Given the description of an element on the screen output the (x, y) to click on. 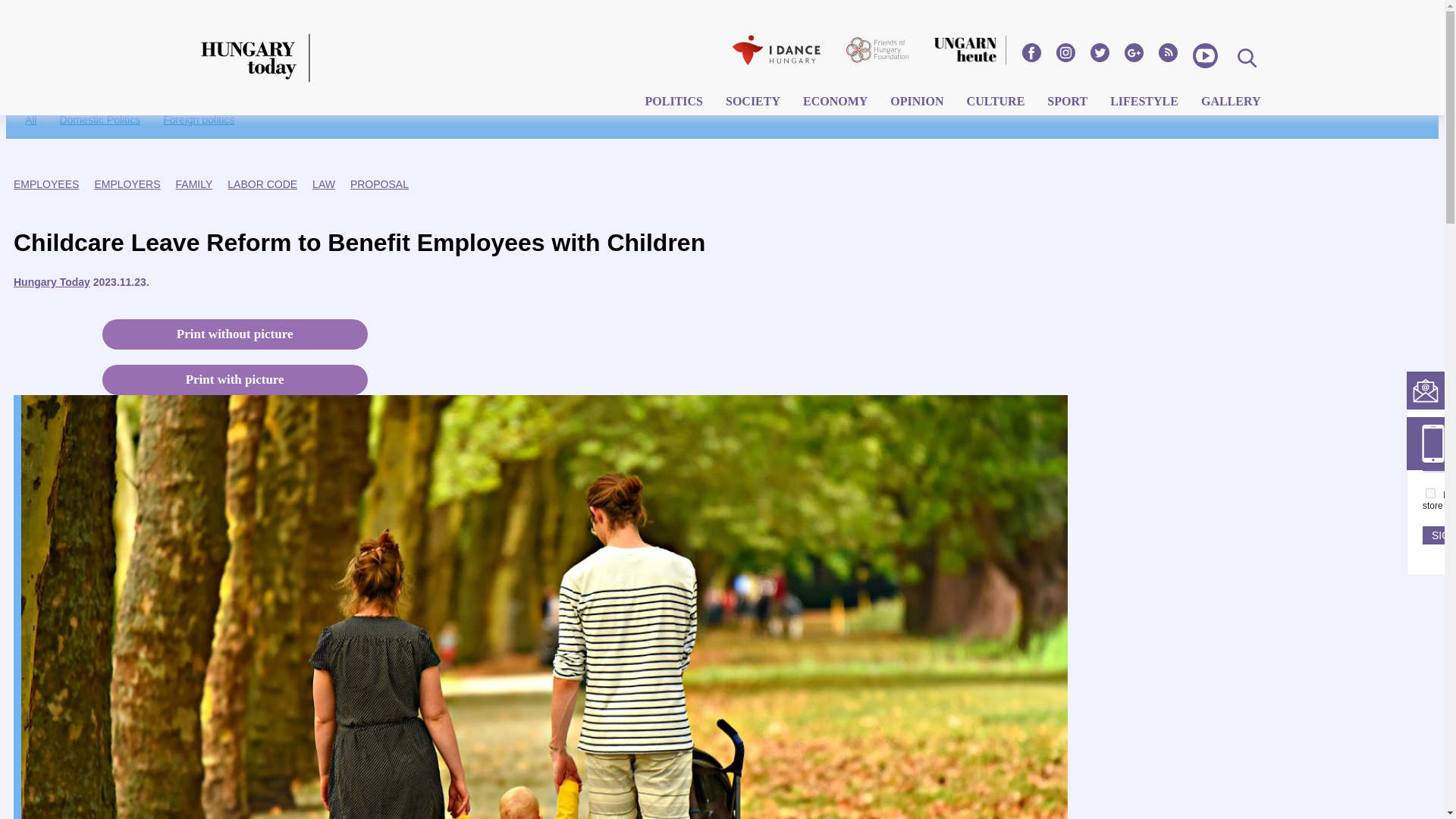
POLITICS (673, 102)
CULTURE (995, 102)
ECONOMY (835, 102)
SPORT (1067, 102)
SOCIETY (753, 102)
OPINION (917, 102)
